Given the description of an element on the screen output the (x, y) to click on. 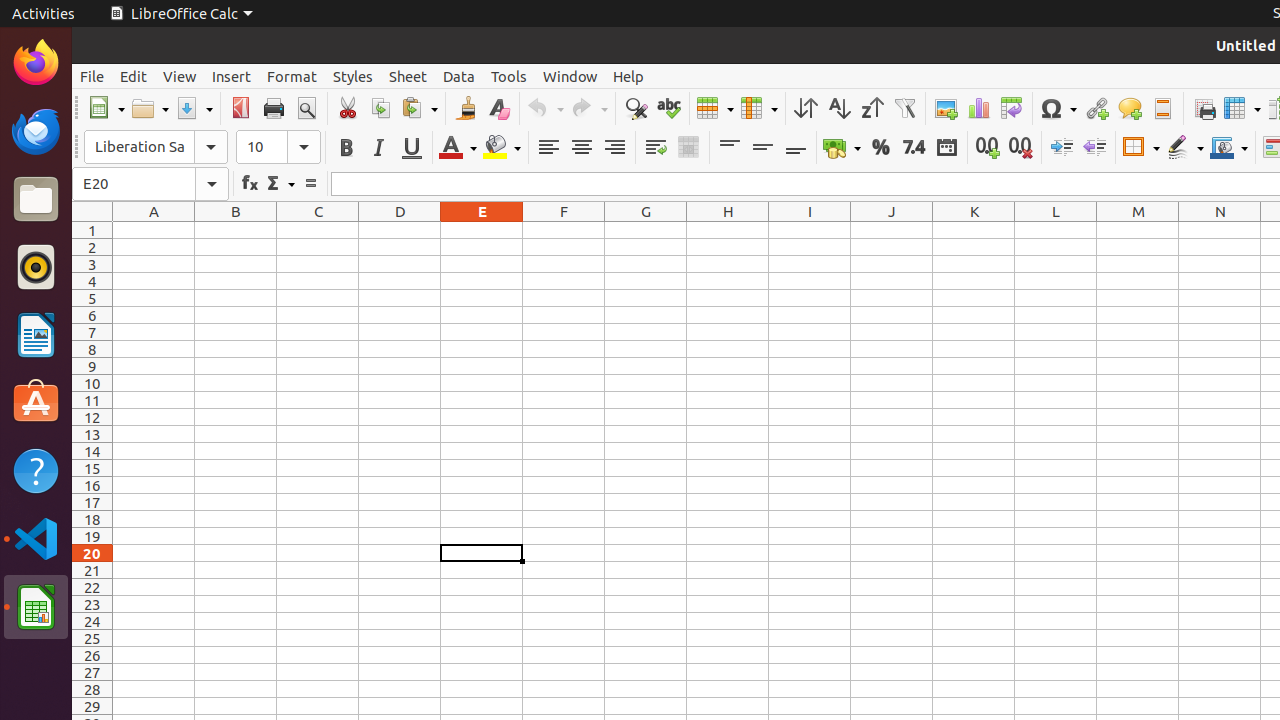
Align Top Element type: push-button (729, 147)
Increase Element type: push-button (1061, 147)
Print Element type: push-button (273, 108)
Border Style Element type: push-button (1185, 147)
Format Element type: menu (292, 76)
